Given the description of an element on the screen output the (x, y) to click on. 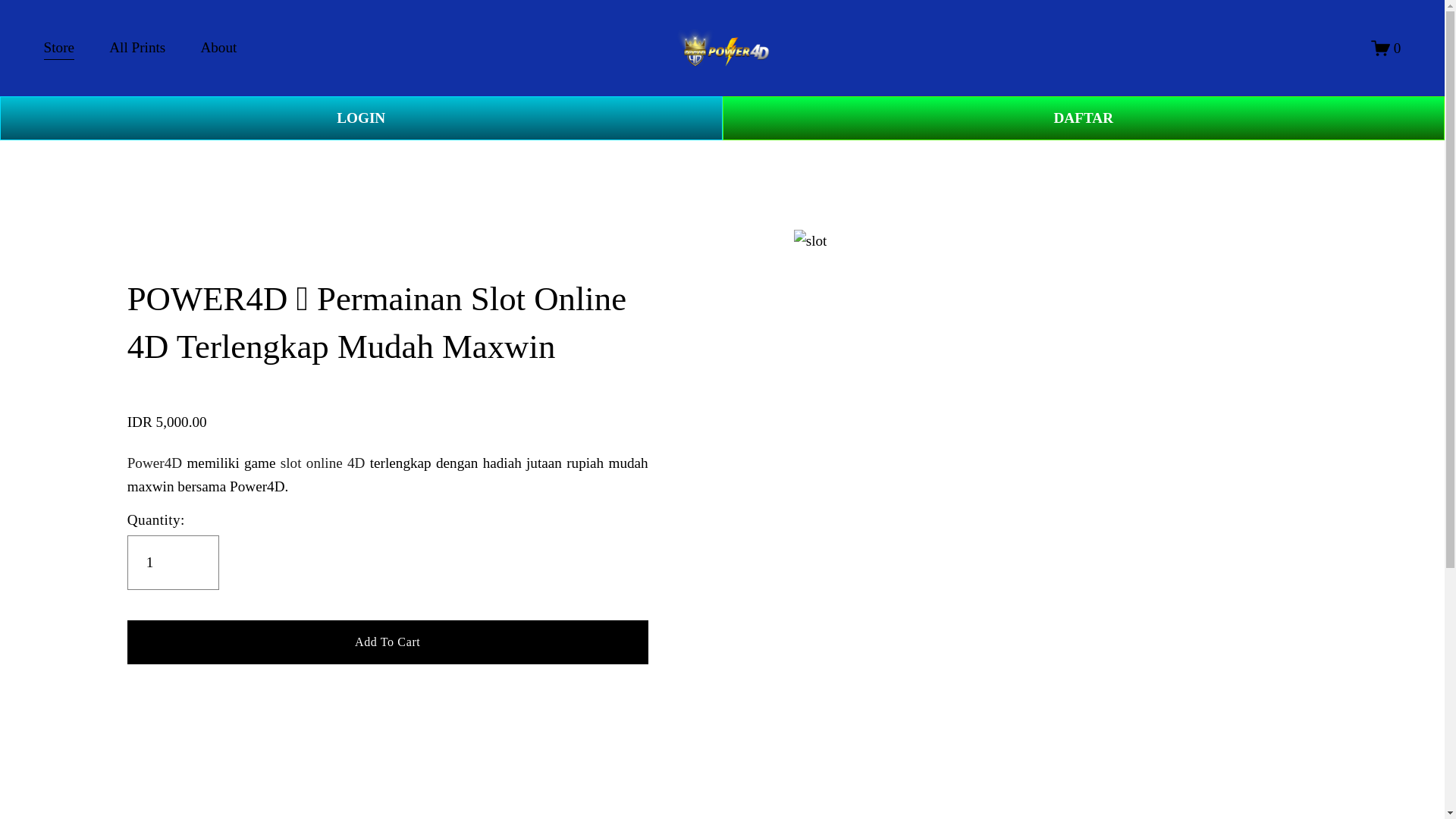
LOGIN (361, 118)
Store (59, 48)
1 (173, 562)
0 (1385, 47)
slot online 4D (323, 462)
Power4D (155, 462)
All Prints (137, 48)
About (217, 48)
Add To Cart (387, 641)
